Given the description of an element on the screen output the (x, y) to click on. 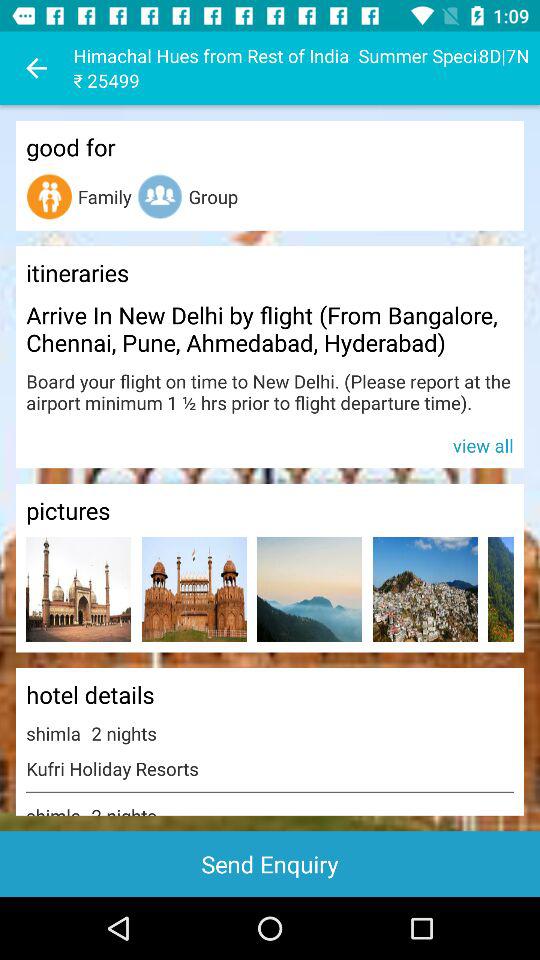
select app below board your flight (269, 443)
